Given the description of an element on the screen output the (x, y) to click on. 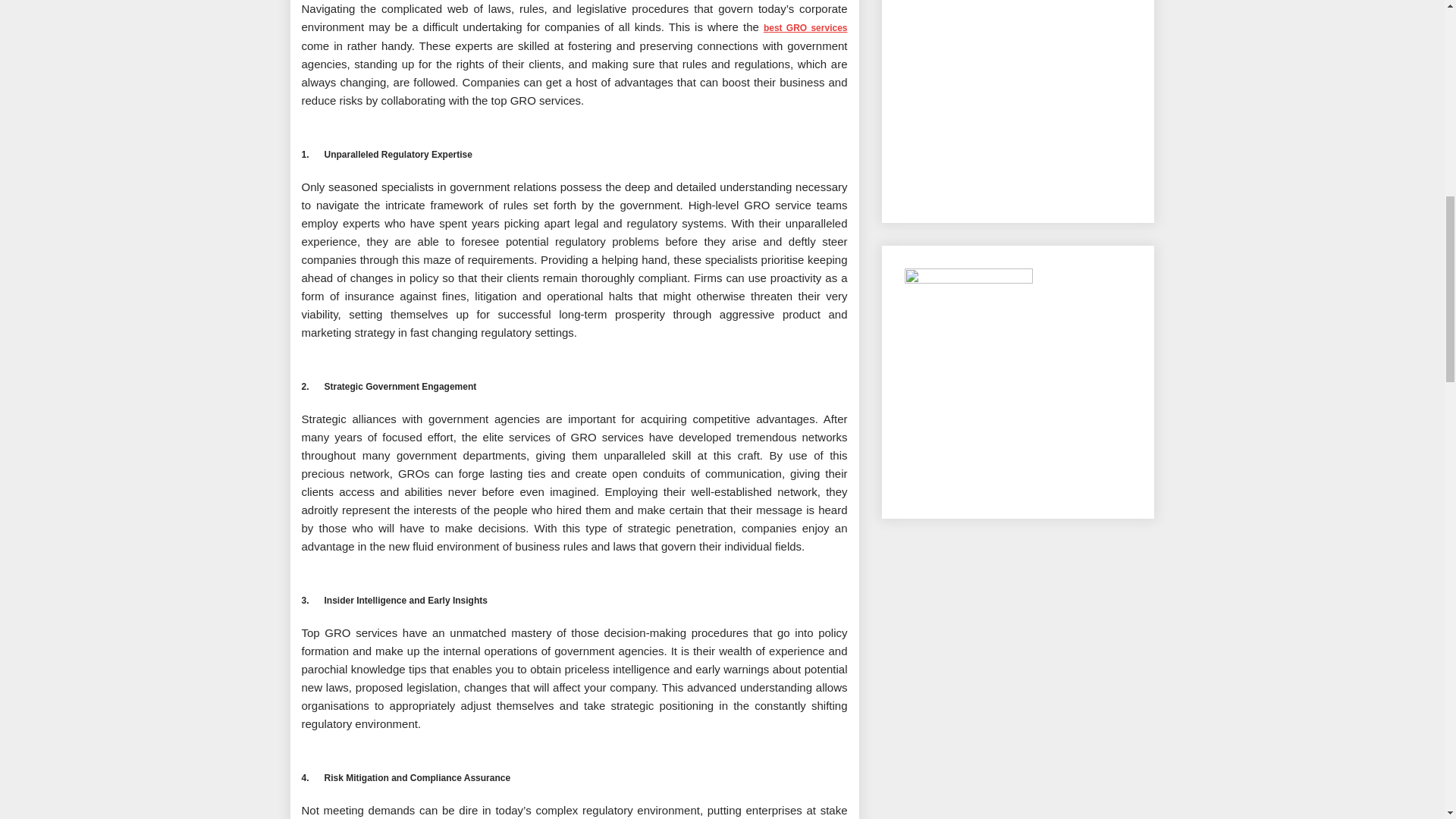
best GRO services (804, 26)
